Given the description of an element on the screen output the (x, y) to click on. 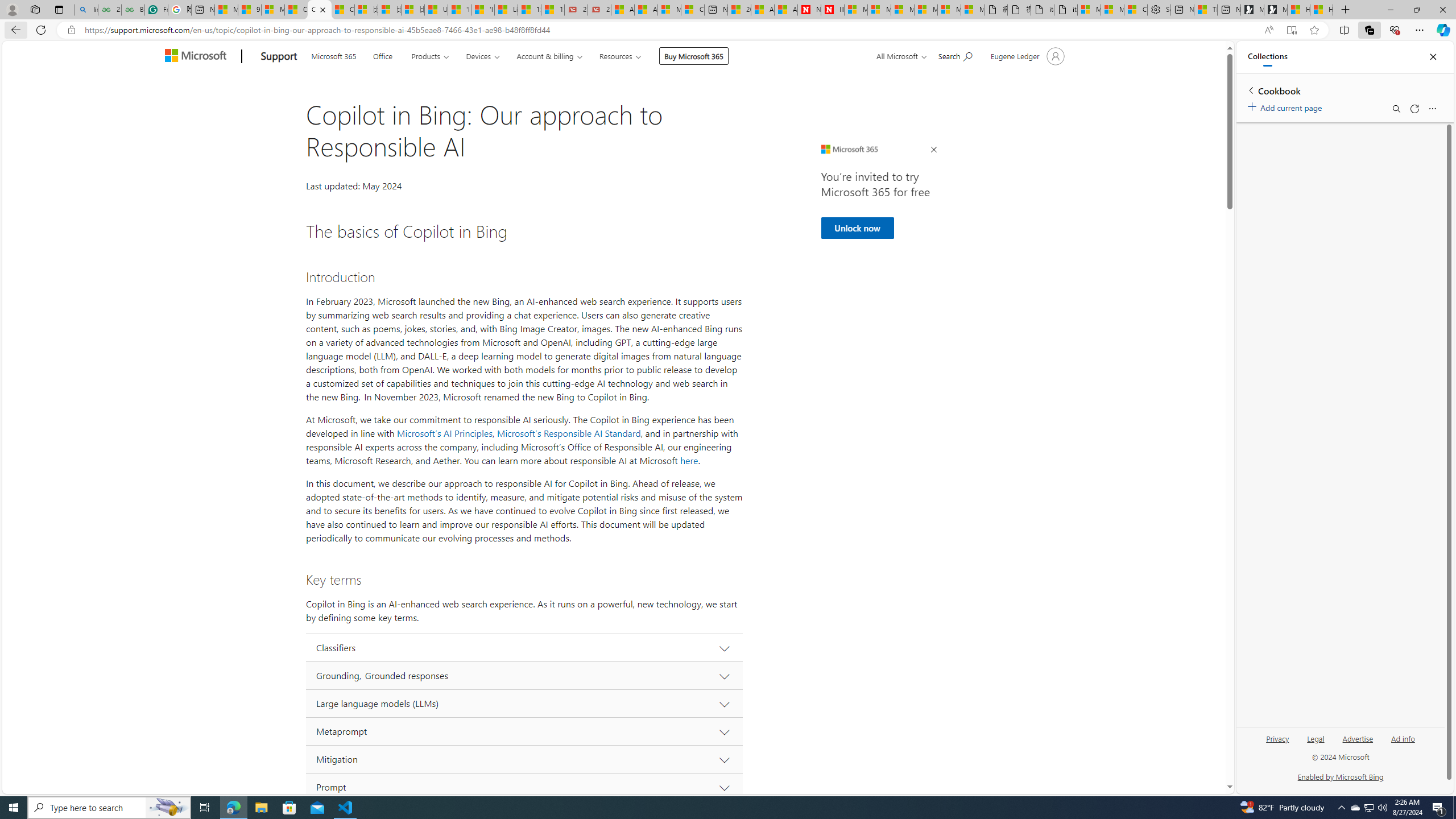
Free AI Writing Assistance for Students | Grammarly (156, 9)
Search (1396, 108)
21 Movies That Outdid the Books They Were Based On (598, 9)
Collections (1369, 29)
Legal (1315, 742)
itconcepthk.com/projector_solutions.mp4 (1065, 9)
Cloud Computing Services | Microsoft Azure (692, 9)
Microsoft account | Privacy (1112, 9)
How to Use a TV as a Computer Monitor (1321, 9)
Microsoft Start (226, 9)
Ad info (1402, 742)
Microsoft 365 (333, 54)
Refresh (1414, 108)
USA TODAY - MSN (435, 9)
